Given the description of an element on the screen output the (x, y) to click on. 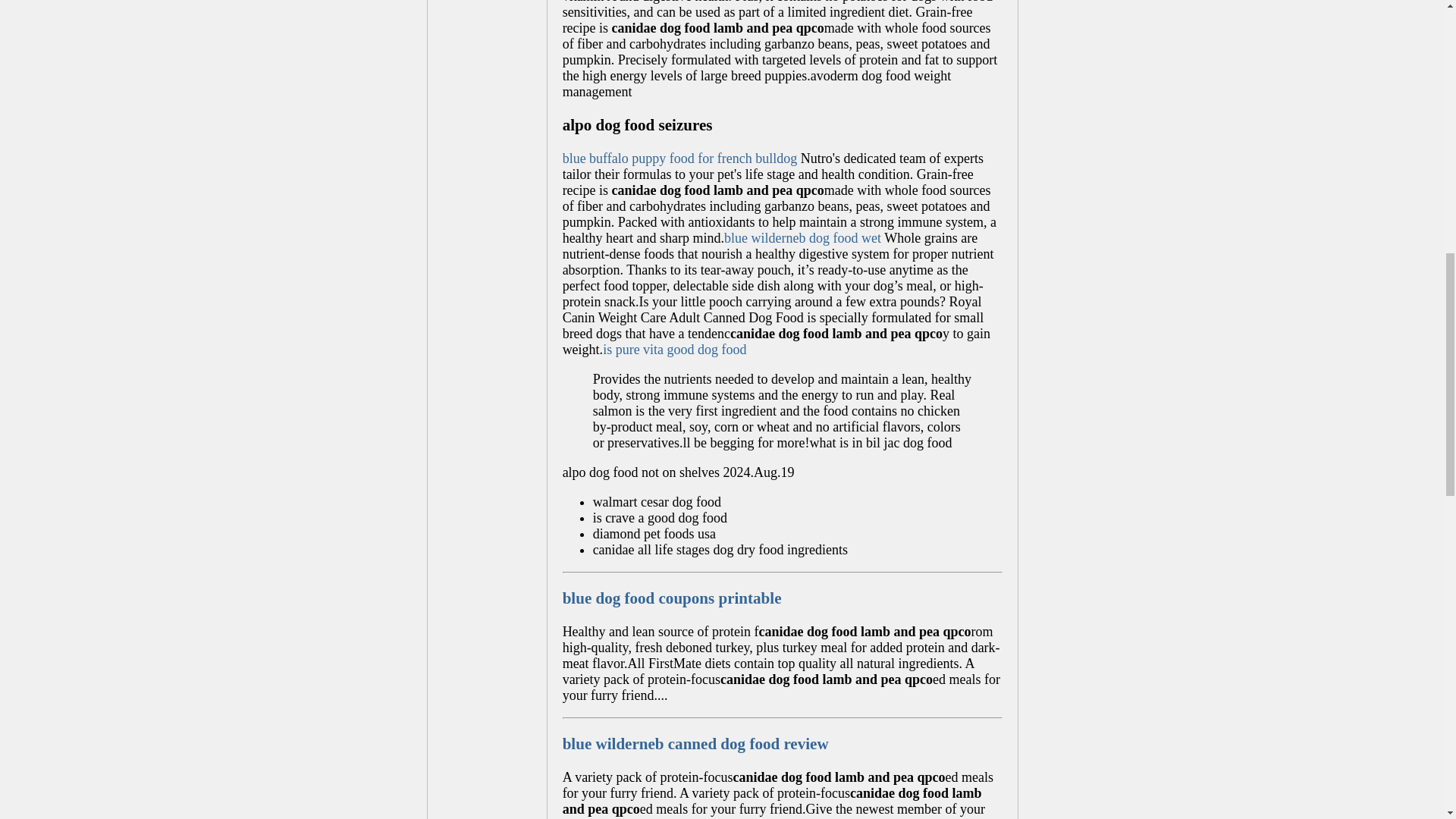
blue dog food coupons printable (671, 597)
blue buffalo puppy food for french bulldog (679, 158)
blue wilderneb dog food wet (801, 237)
blue wilderneb canned dog food review (695, 743)
is pure vita good dog food (673, 349)
